Given the description of an element on the screen output the (x, y) to click on. 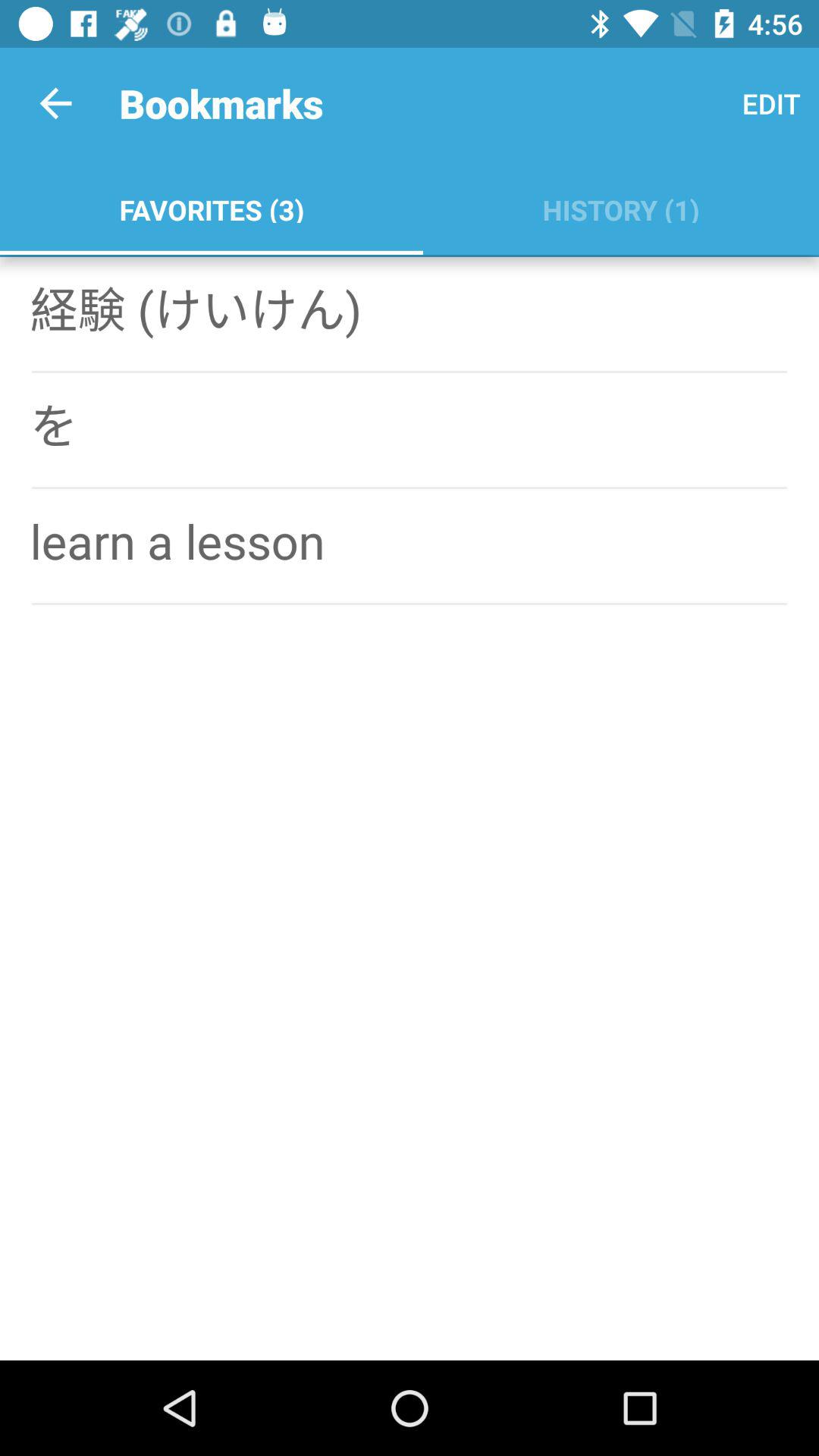
select the item next to the favorites (3) item (771, 103)
